Given the description of an element on the screen output the (x, y) to click on. 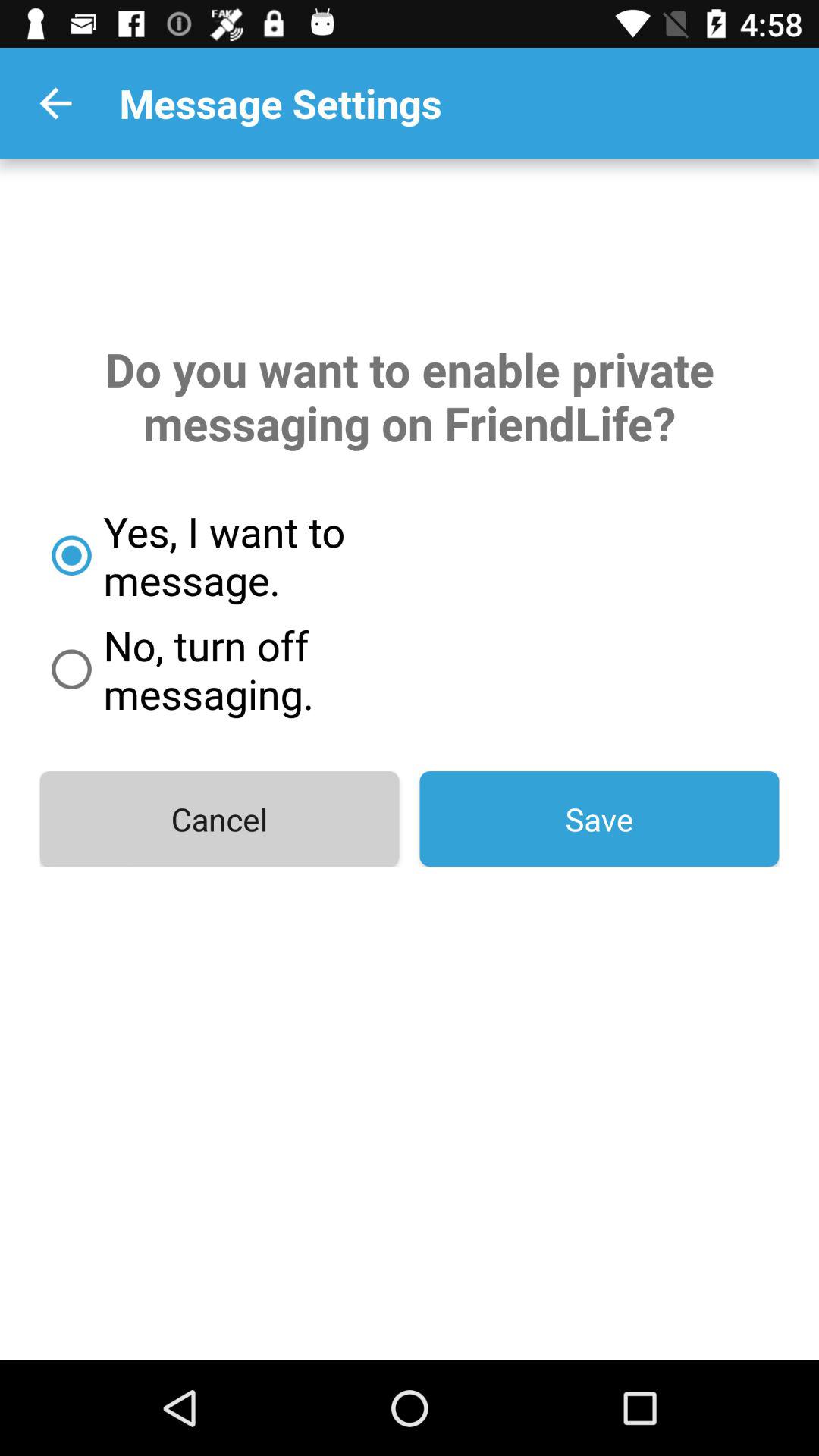
open the item at the top left corner (55, 103)
